Given the description of an element on the screen output the (x, y) to click on. 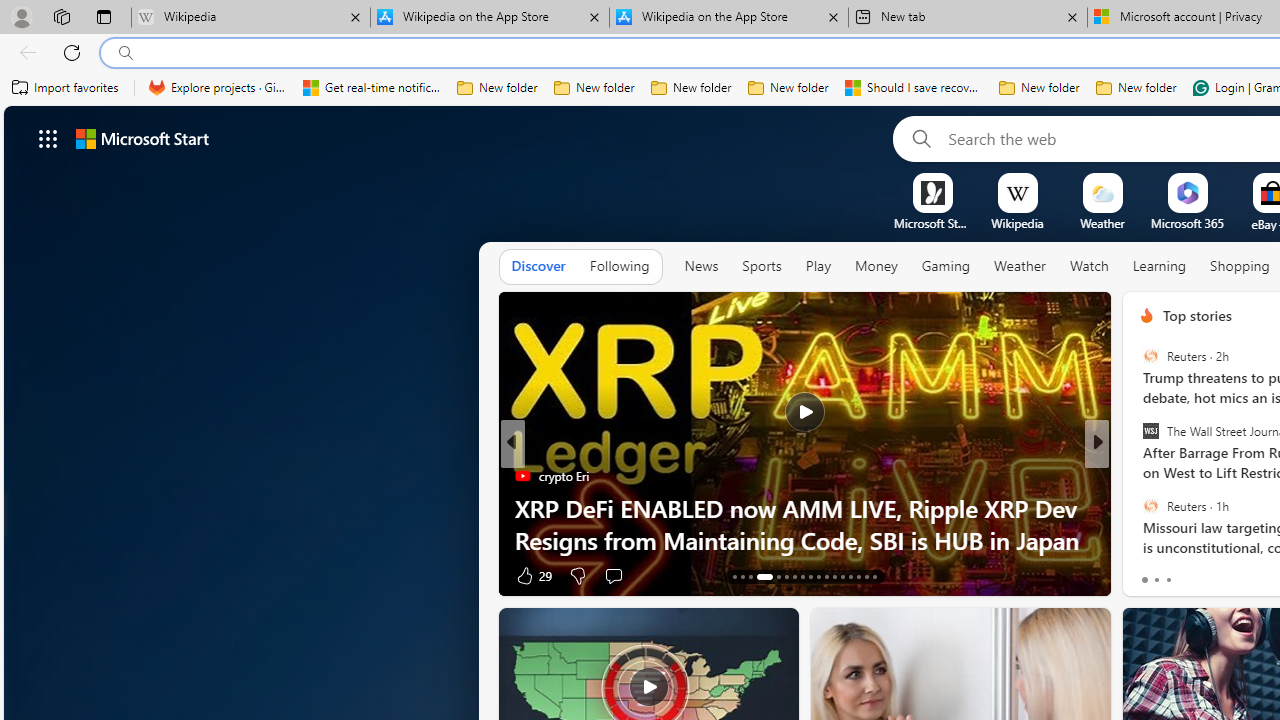
Start the conversation (1222, 574)
View comments 4 Comment (1234, 574)
AutomationID: tab-27 (857, 576)
AutomationID: tab-26 (850, 576)
AutomationID: tab-19 (793, 576)
Sports (761, 267)
View comments 5 Comment (1234, 574)
AutomationID: tab-15 (750, 576)
HowToGeek (1138, 475)
Watch (1089, 265)
Search icon (125, 53)
AutomationID: tab-14 (742, 576)
AutomationID: tab-25 (842, 576)
Learning (1159, 265)
View comments 3 Comment (618, 574)
